Given the description of an element on the screen output the (x, y) to click on. 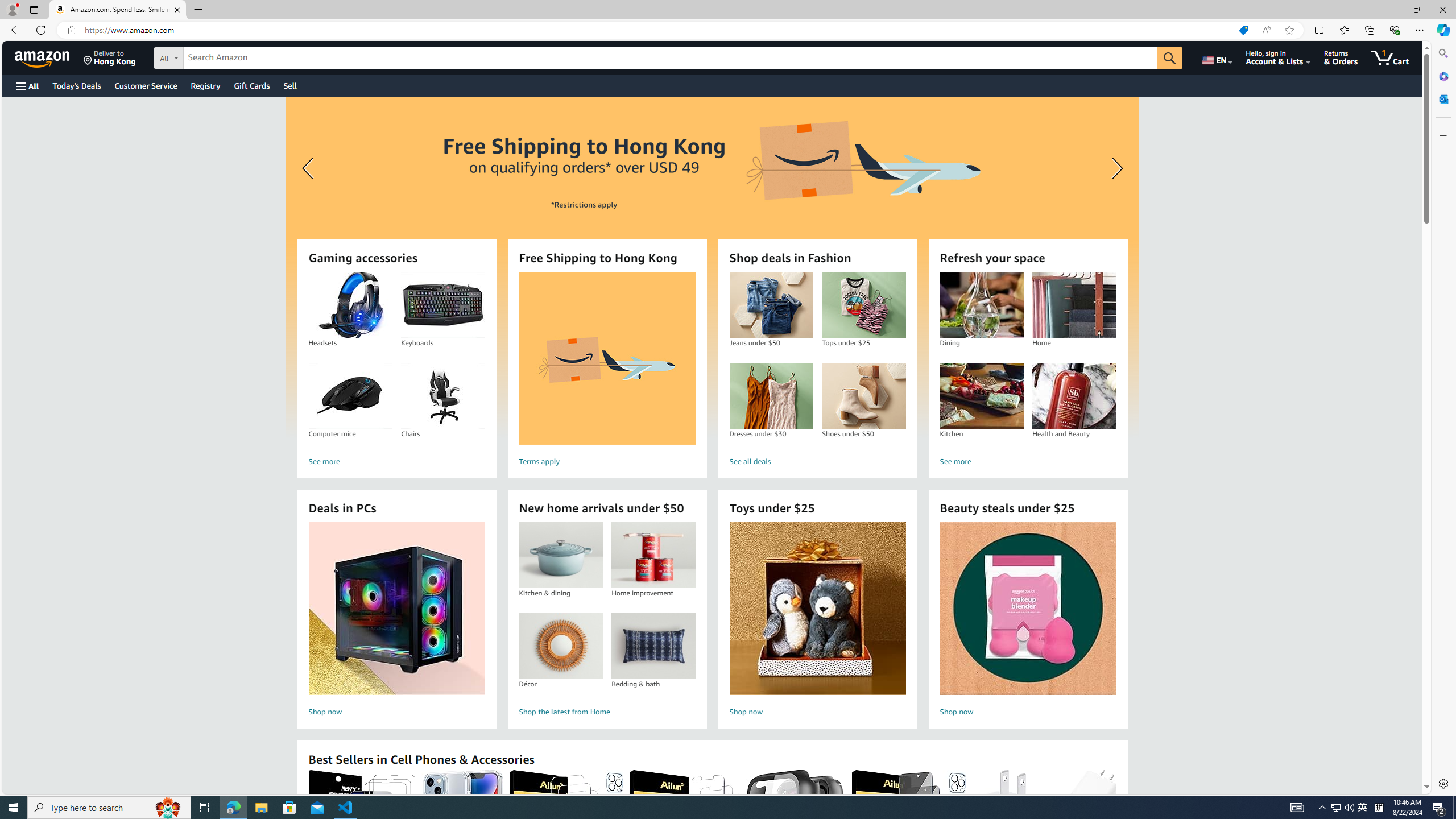
Shopping in Microsoft Edge (1243, 29)
Deals in PCs Shop now (396, 620)
Health and Beauty (1074, 395)
Headsets (350, 304)
Dresses under $30 (771, 395)
Keyboards (443, 304)
Health and Beauty (1074, 395)
Jeans under $50 (770, 304)
Shoes under $50 (863, 395)
